Given the description of an element on the screen output the (x, y) to click on. 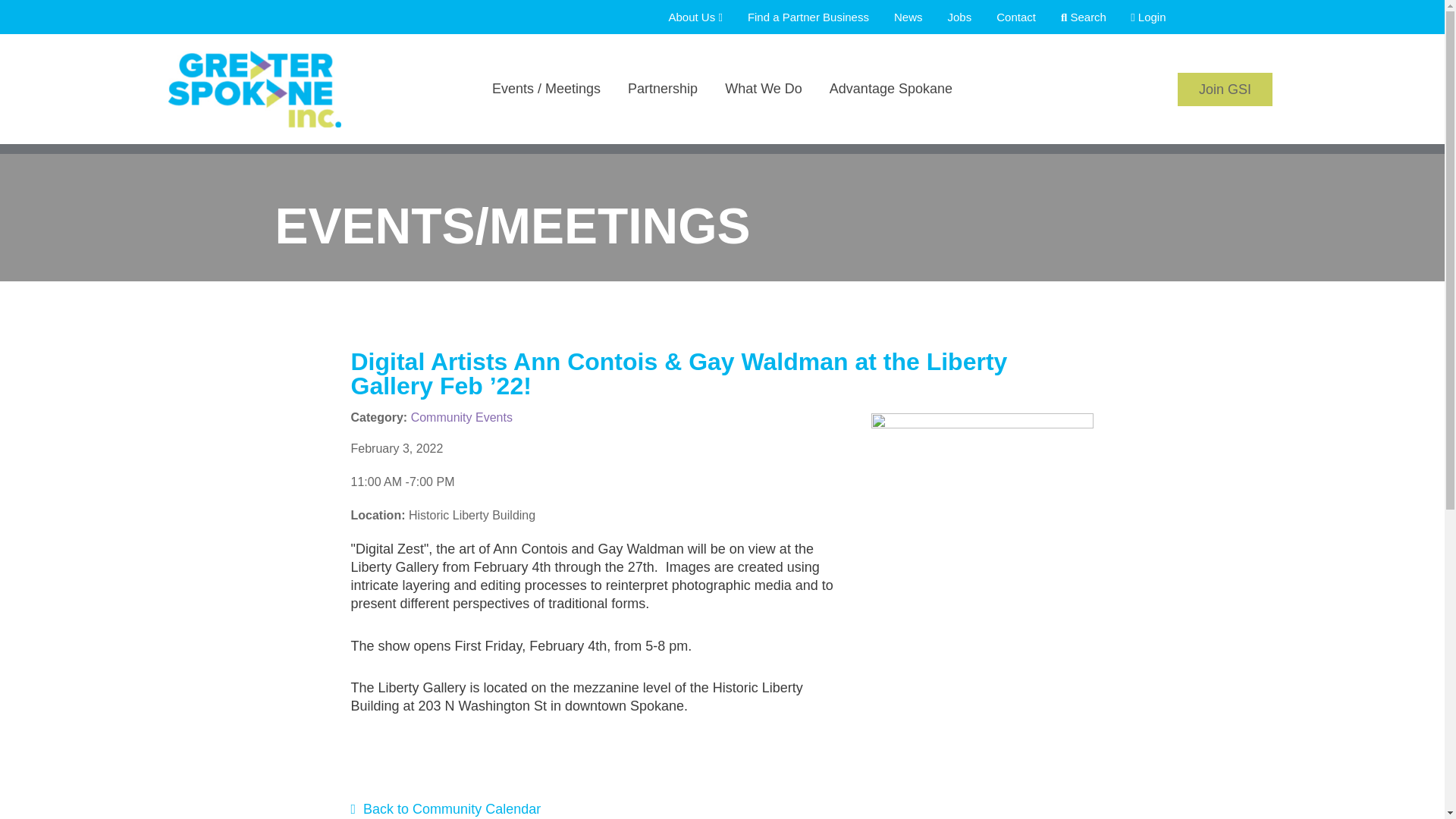
Search (1074, 16)
Login (1137, 16)
Contact (1005, 16)
Partnership (662, 109)
Find a Partner Business (797, 16)
About Us (684, 16)
News (897, 16)
Jobs (949, 16)
What We Do (763, 109)
